Given the description of an element on the screen output the (x, y) to click on. 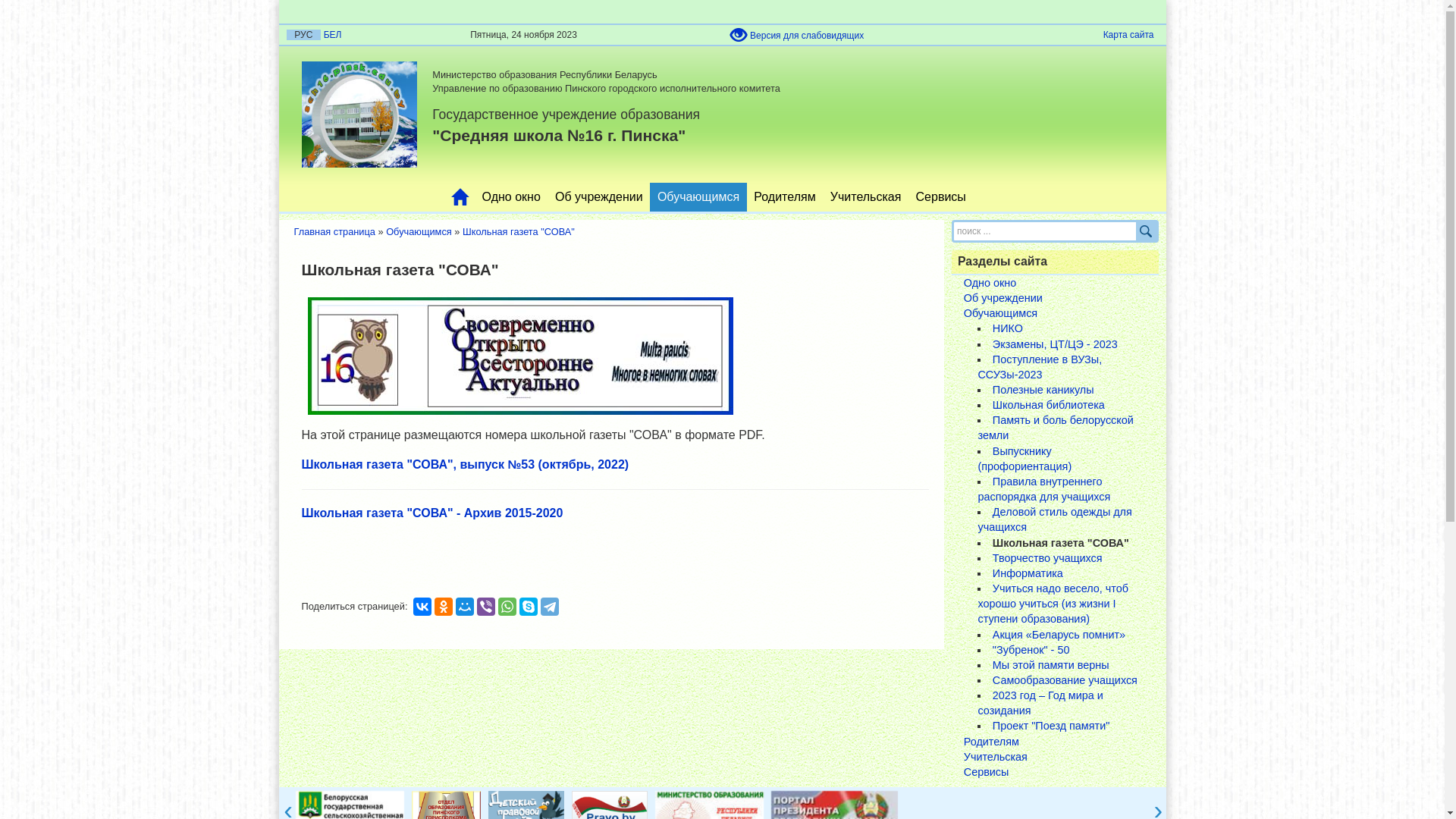
Telegram Element type: hover (549, 606)
Viber Element type: hover (485, 606)
WhatsApp Element type: hover (507, 606)
Skype Element type: hover (528, 606)
